Given the description of an element on the screen output the (x, y) to click on. 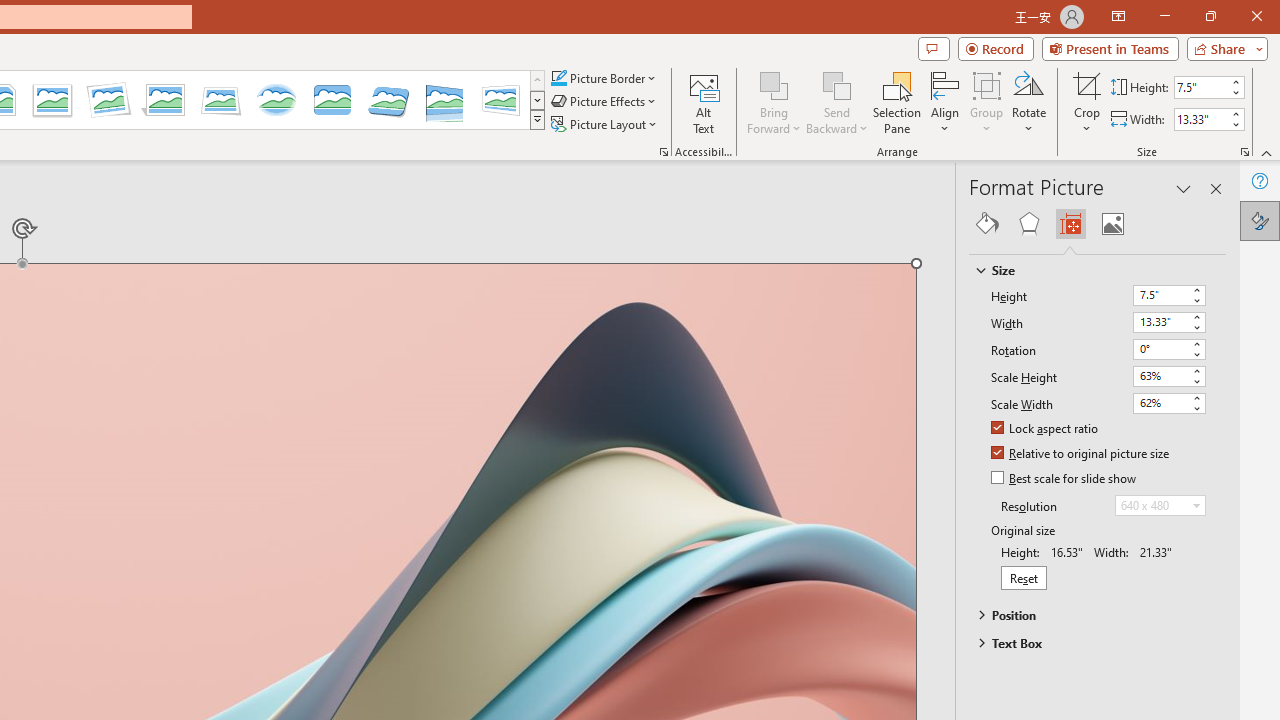
Quick Styles (537, 120)
Lock aspect ratio (1046, 429)
Relaxed Perspective, White (221, 100)
Effects (1028, 223)
Scale Height (1160, 376)
Fill & Line (987, 223)
Picture Border Blue, Accent 1 (558, 78)
Shape Width (1201, 119)
Position (1088, 615)
Relative to original picture size (1081, 453)
Width (1160, 322)
